Given the description of an element on the screen output the (x, y) to click on. 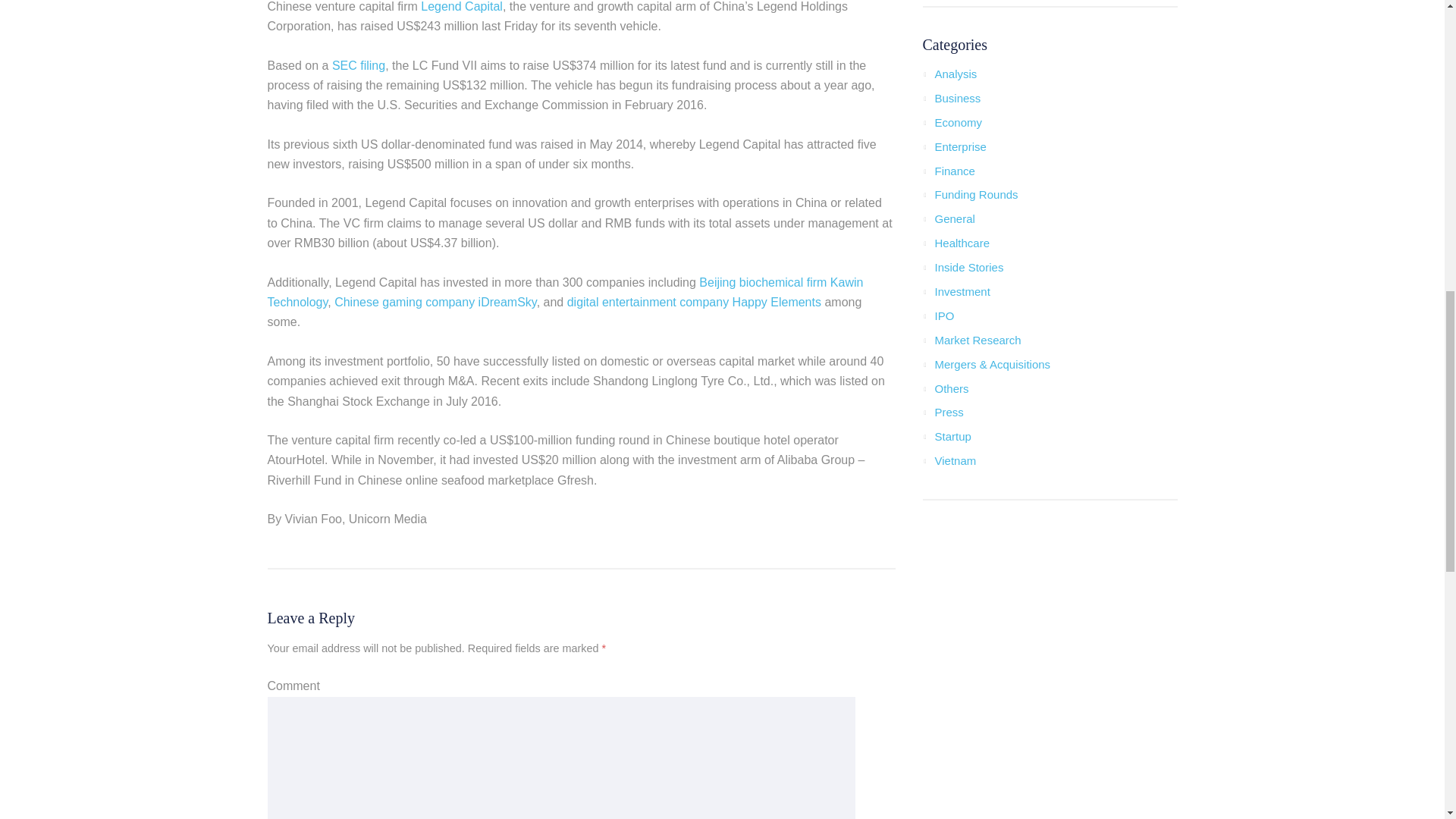
Analysis (955, 73)
Business (956, 97)
digital entertainment company Happy Elements (694, 301)
SEC filing (358, 65)
Beijing biochemical firm Kawin Technology (564, 292)
Legend Capital (461, 6)
Chinese gaming company iDreamSky (434, 301)
